Given the description of an element on the screen output the (x, y) to click on. 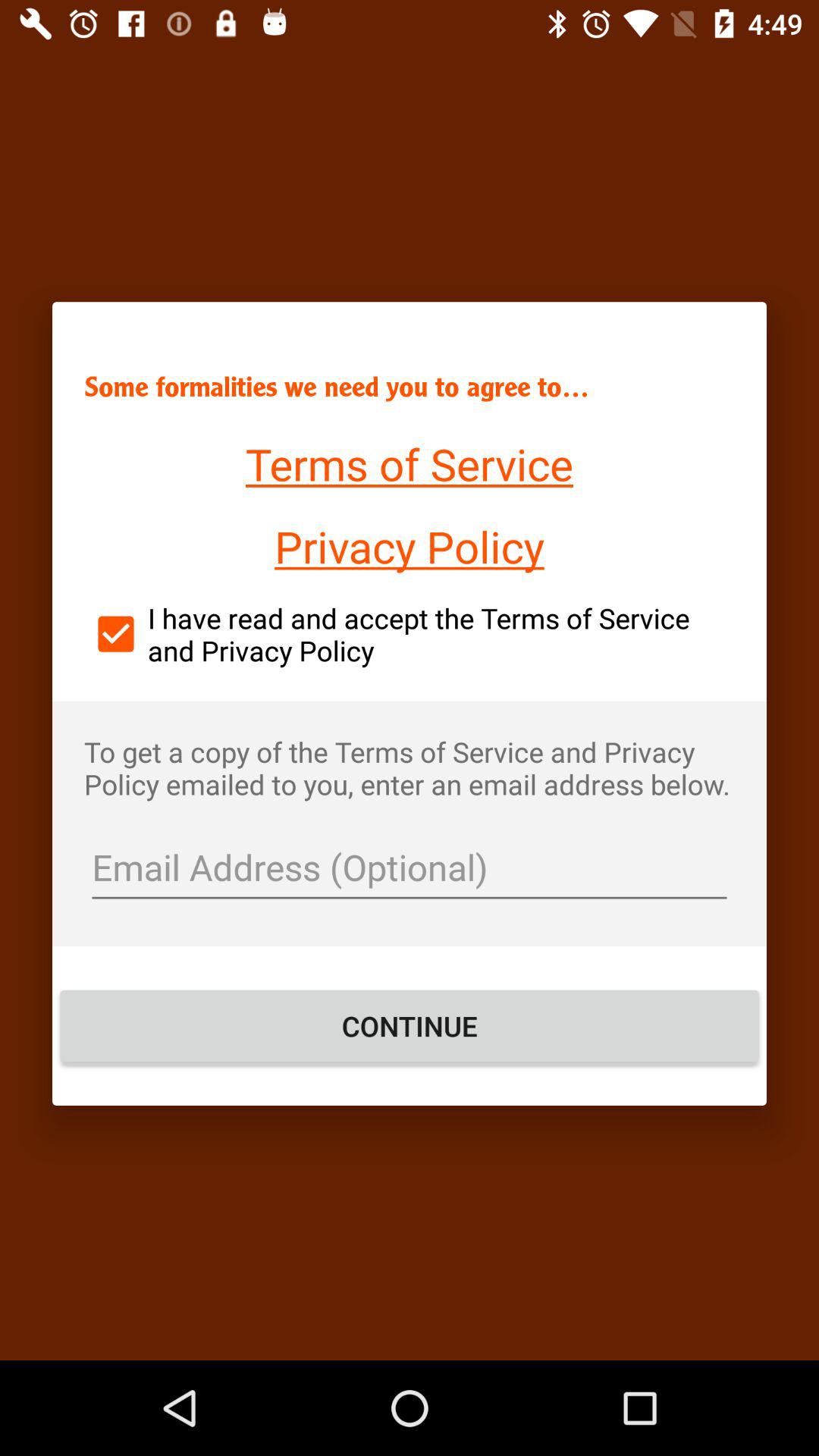
open to get a icon (409, 768)
